Given the description of an element on the screen output the (x, y) to click on. 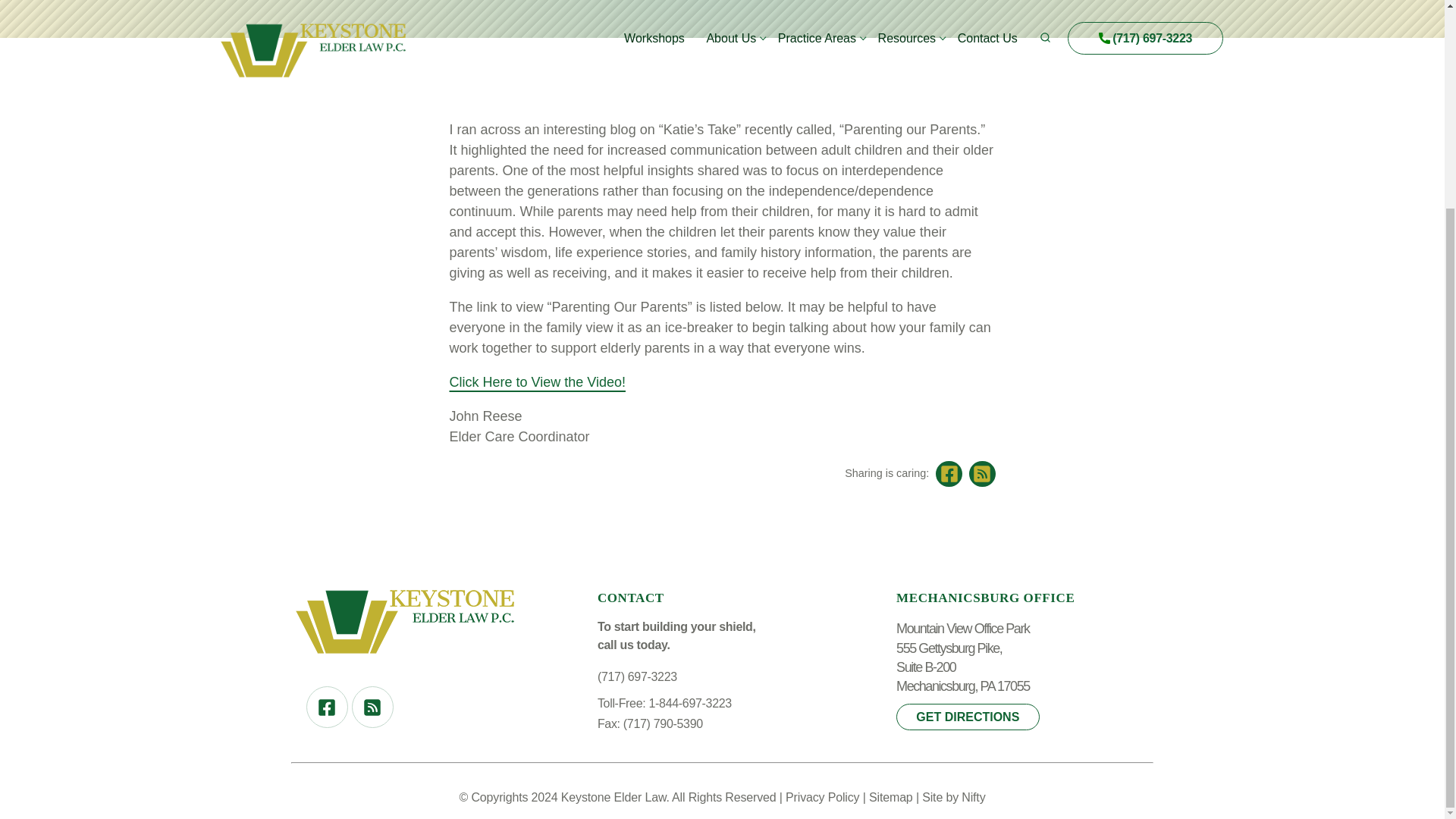
Share (982, 474)
Click Here to View the Video! (536, 381)
Share on Facebook (949, 474)
Click Here to View the Video! (536, 381)
